Given the description of an element on the screen output the (x, y) to click on. 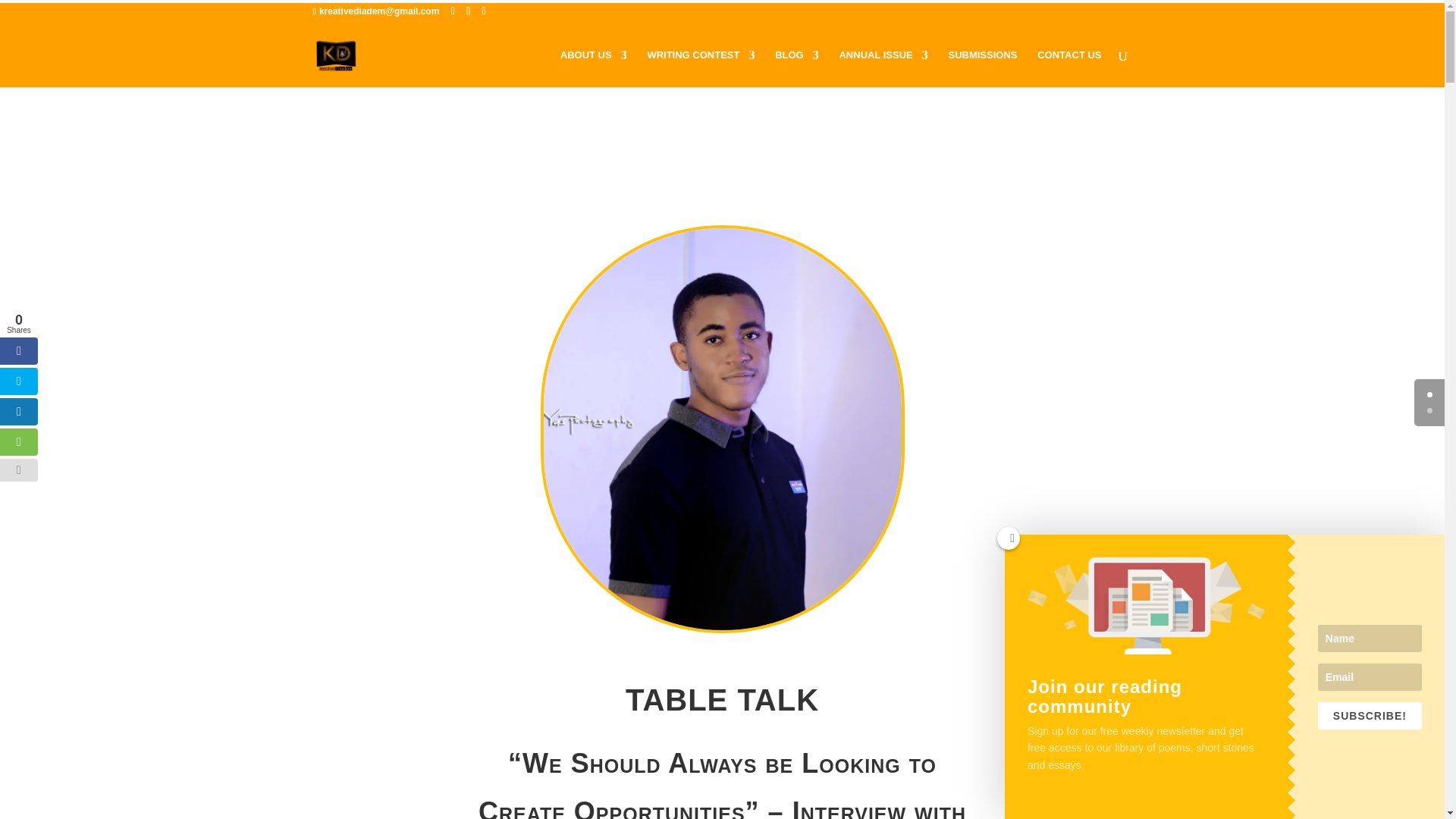
BLOG (796, 67)
Issue (882, 67)
SUBMISSIONS (981, 67)
CONTACT US (1068, 67)
ABOUT US (593, 67)
WRITING CONTEST (700, 67)
ANNUAL ISSUE (882, 67)
